Given the description of an element on the screen output the (x, y) to click on. 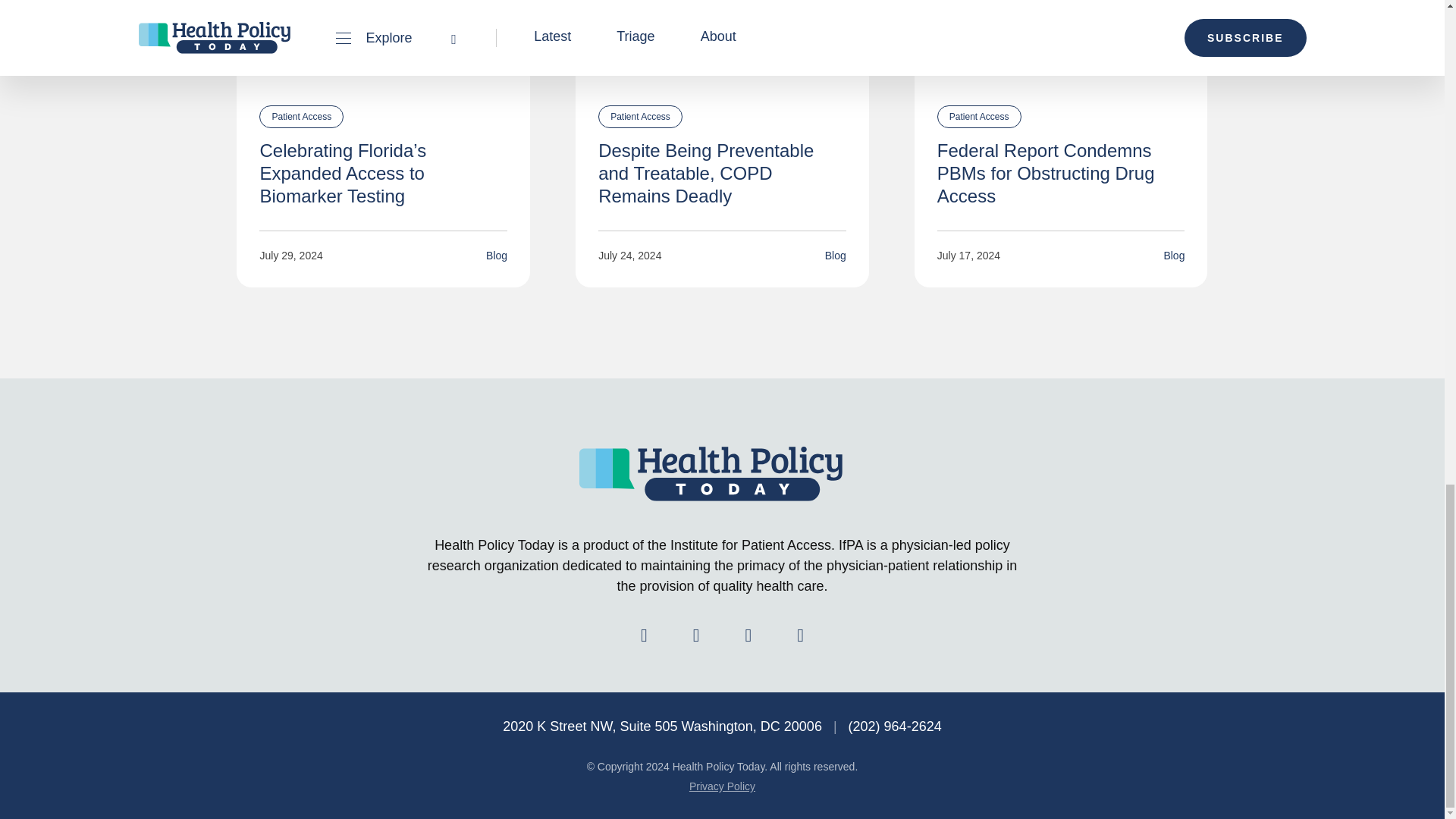
Patient Access (301, 116)
Despite Being Preventable and Treatable, COPD Remains Deadly (705, 173)
Facebook (643, 633)
Federal Report Condemns PBMs for Obstructing Drug Access (1045, 173)
Blog (1174, 255)
Privacy Policy (721, 786)
YouTube (800, 633)
Blog (835, 255)
LinkedIn (748, 633)
Patient Access (979, 116)
Blog (496, 255)
Twitter (695, 633)
Patient Access (640, 116)
